Given the description of an element on the screen output the (x, y) to click on. 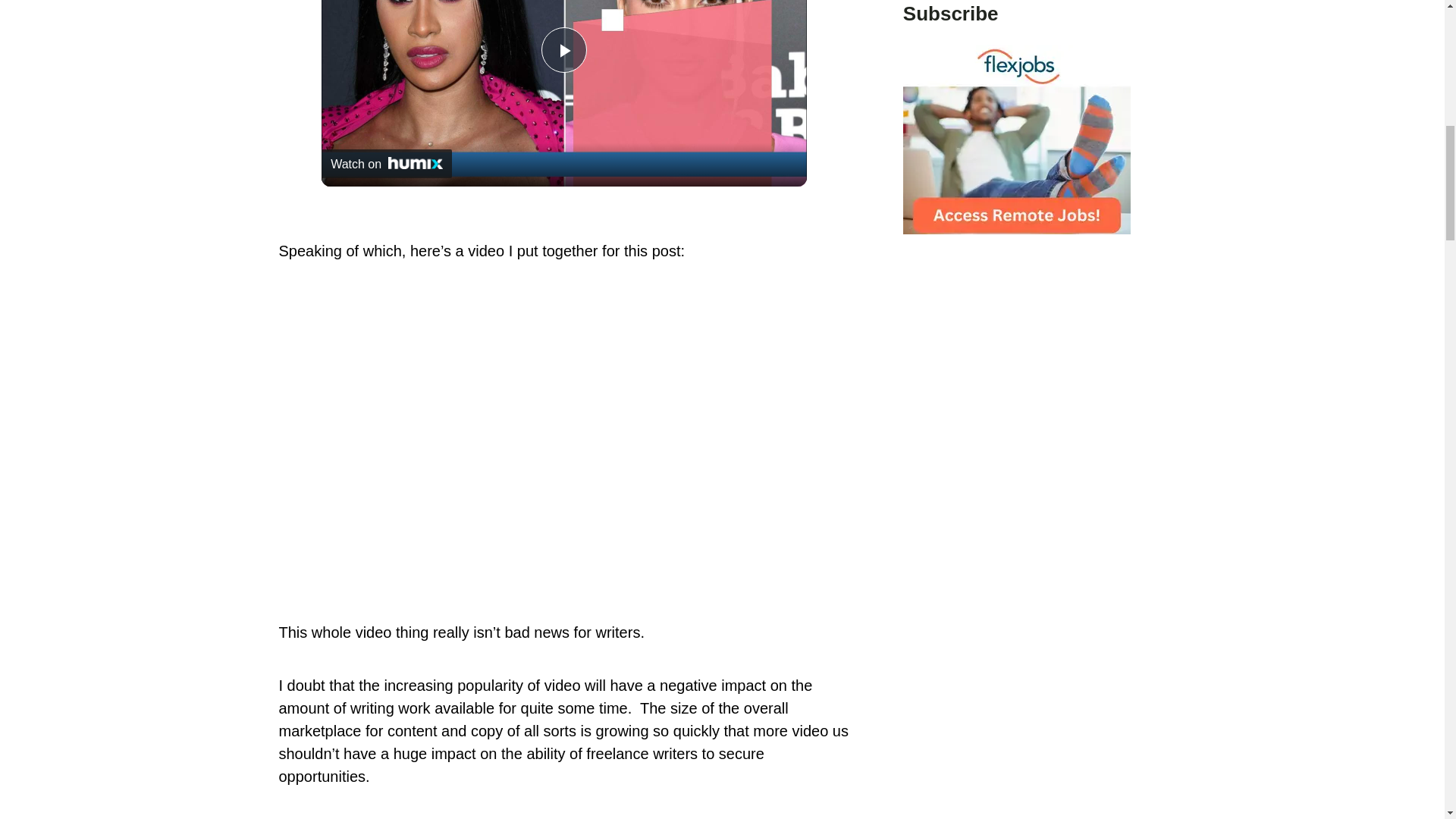
Play Video (563, 49)
Play Video (563, 49)
Watch on (386, 163)
